Given the description of an element on the screen output the (x, y) to click on. 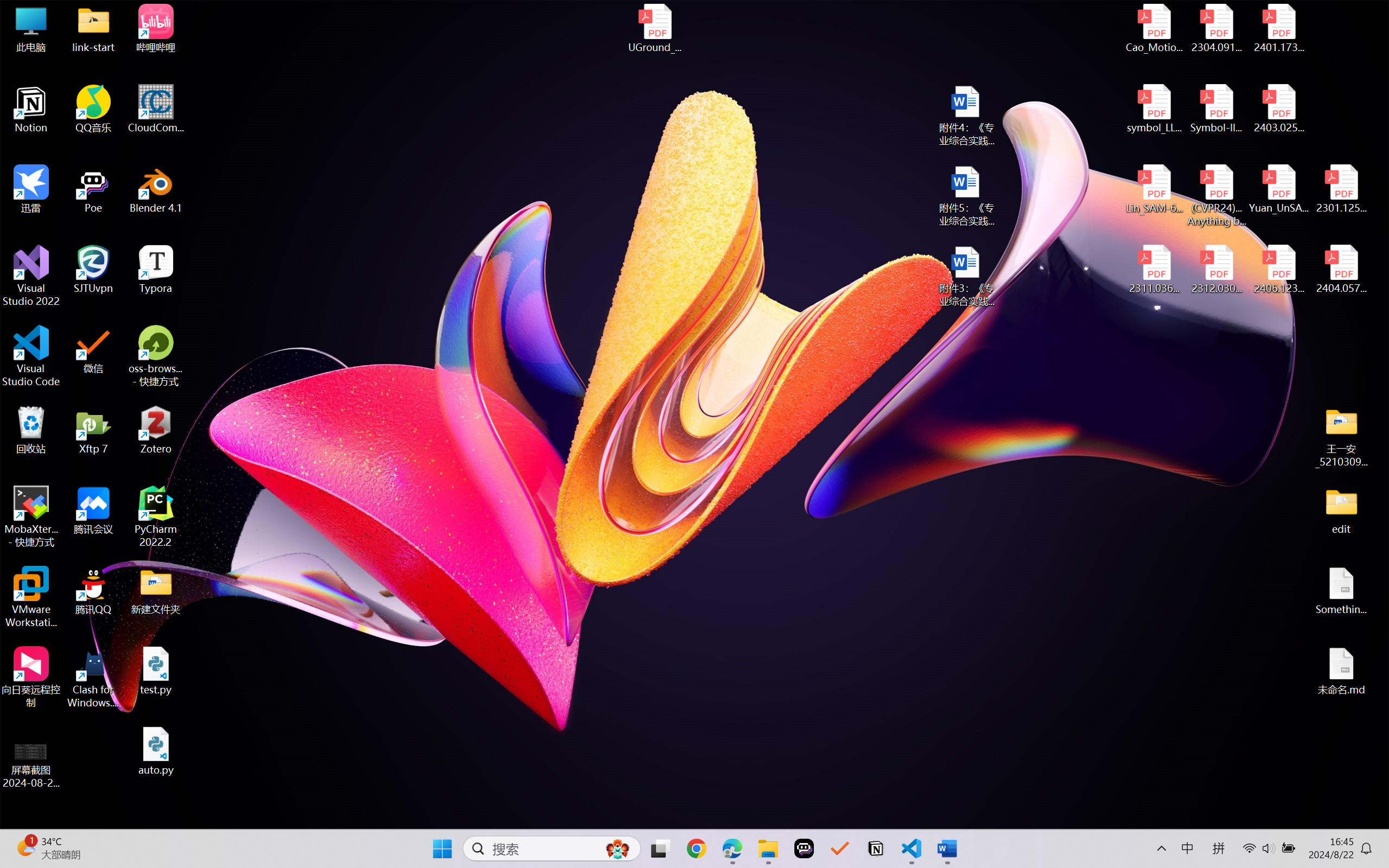
auto.py (156, 751)
Blender 4.1 (156, 189)
CloudCompare (156, 109)
PyCharm 2022.2 (156, 516)
Visual Studio 2022 (31, 276)
2403.02502v1.pdf (1278, 109)
test.py (156, 670)
